Given the description of an element on the screen output the (x, y) to click on. 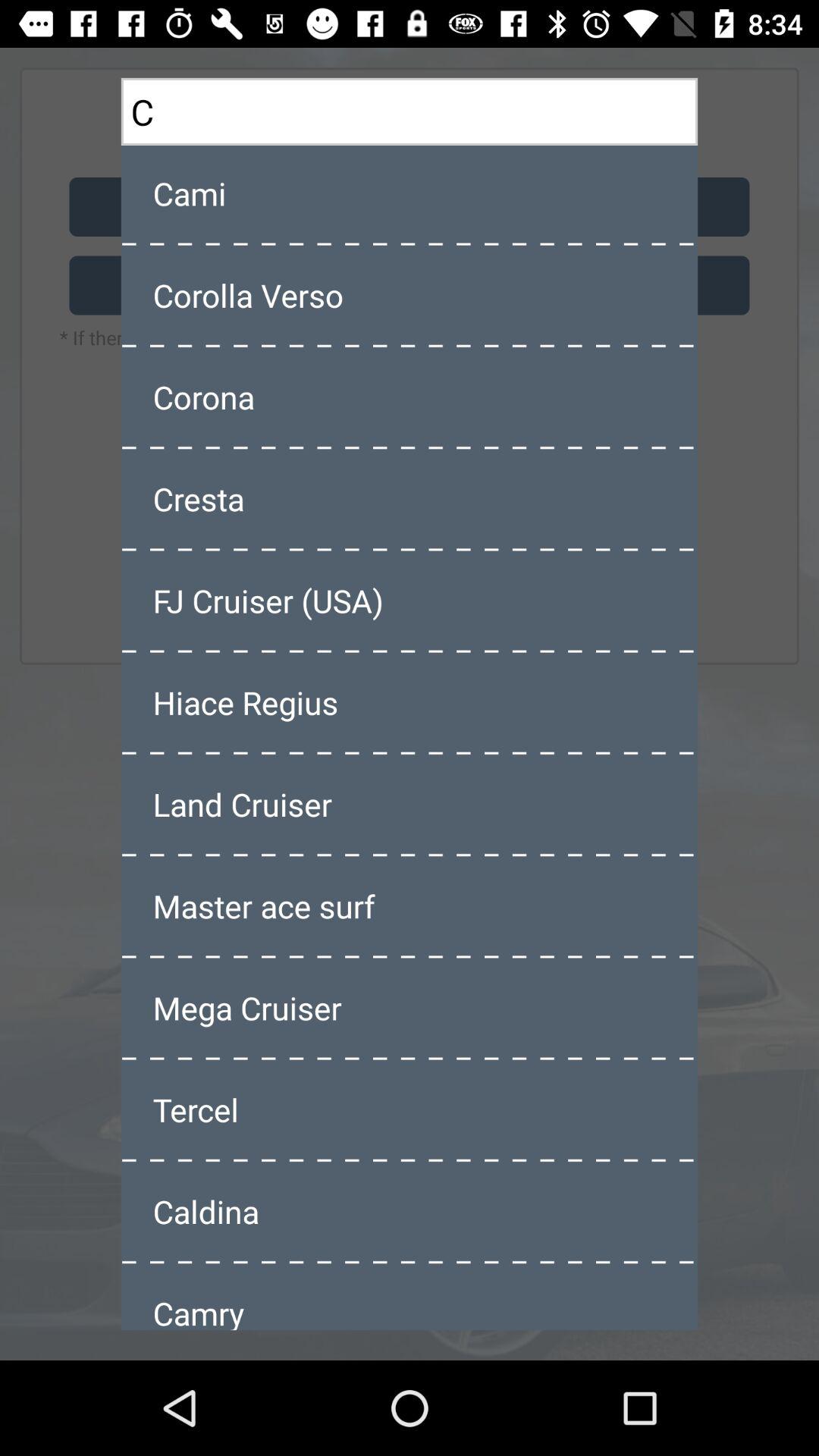
jump until corolla verso item (409, 294)
